Given the description of an element on the screen output the (x, y) to click on. 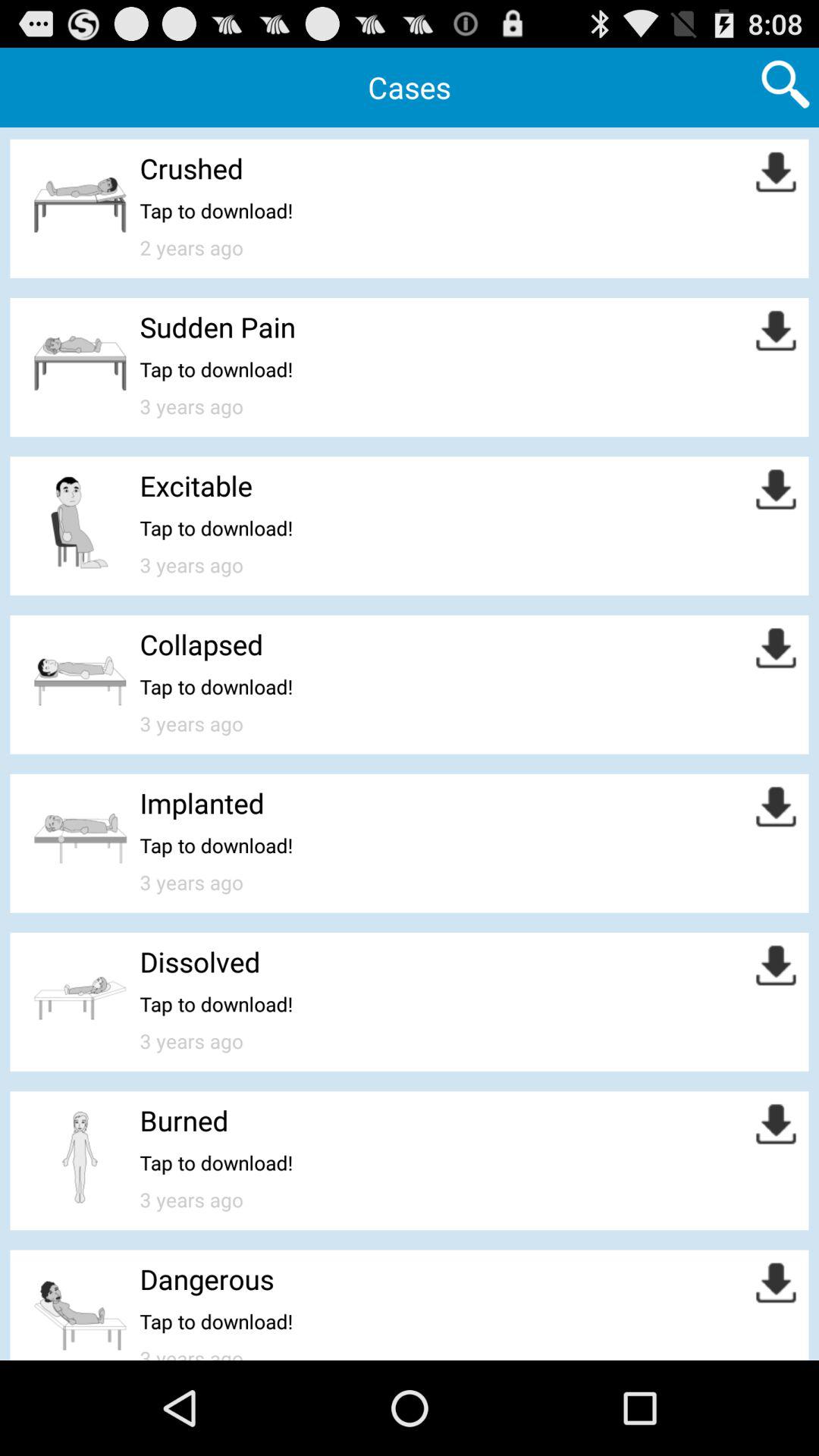
open the app below the cases icon (191, 168)
